Given the description of an element on the screen output the (x, y) to click on. 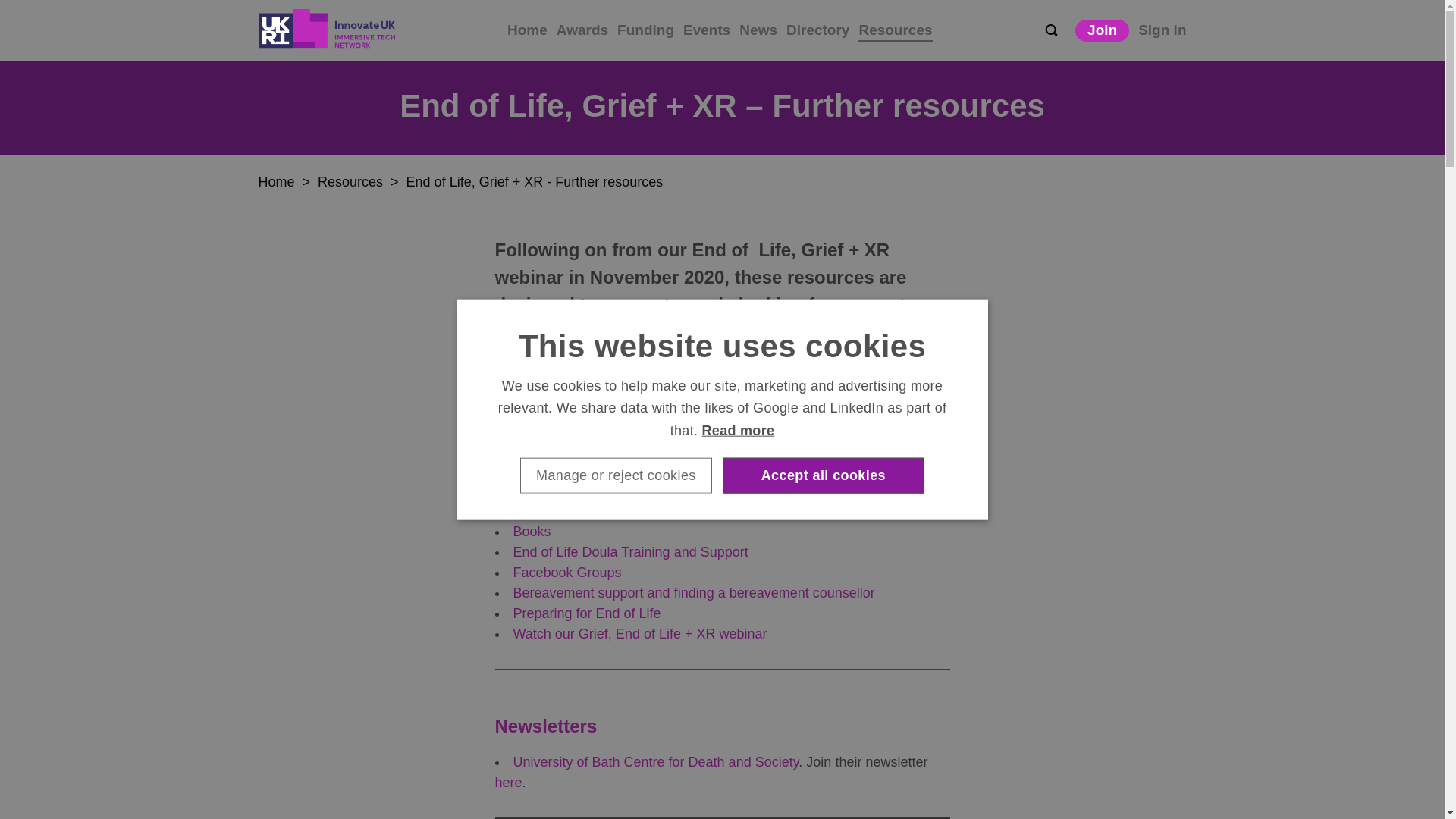
News (758, 31)
Funding (645, 31)
Home (526, 31)
Books (531, 531)
Join (1102, 30)
Directory (817, 31)
Awards (582, 31)
Art and Creativity (564, 469)
Events (706, 31)
XR and End of Life (569, 490)
Newsletters (547, 449)
End of Life Doula Training and Support (630, 551)
Facebook Groups (566, 572)
Annual Festivals and Events (598, 510)
Sign in (1162, 31)
